Given the description of an element on the screen output the (x, y) to click on. 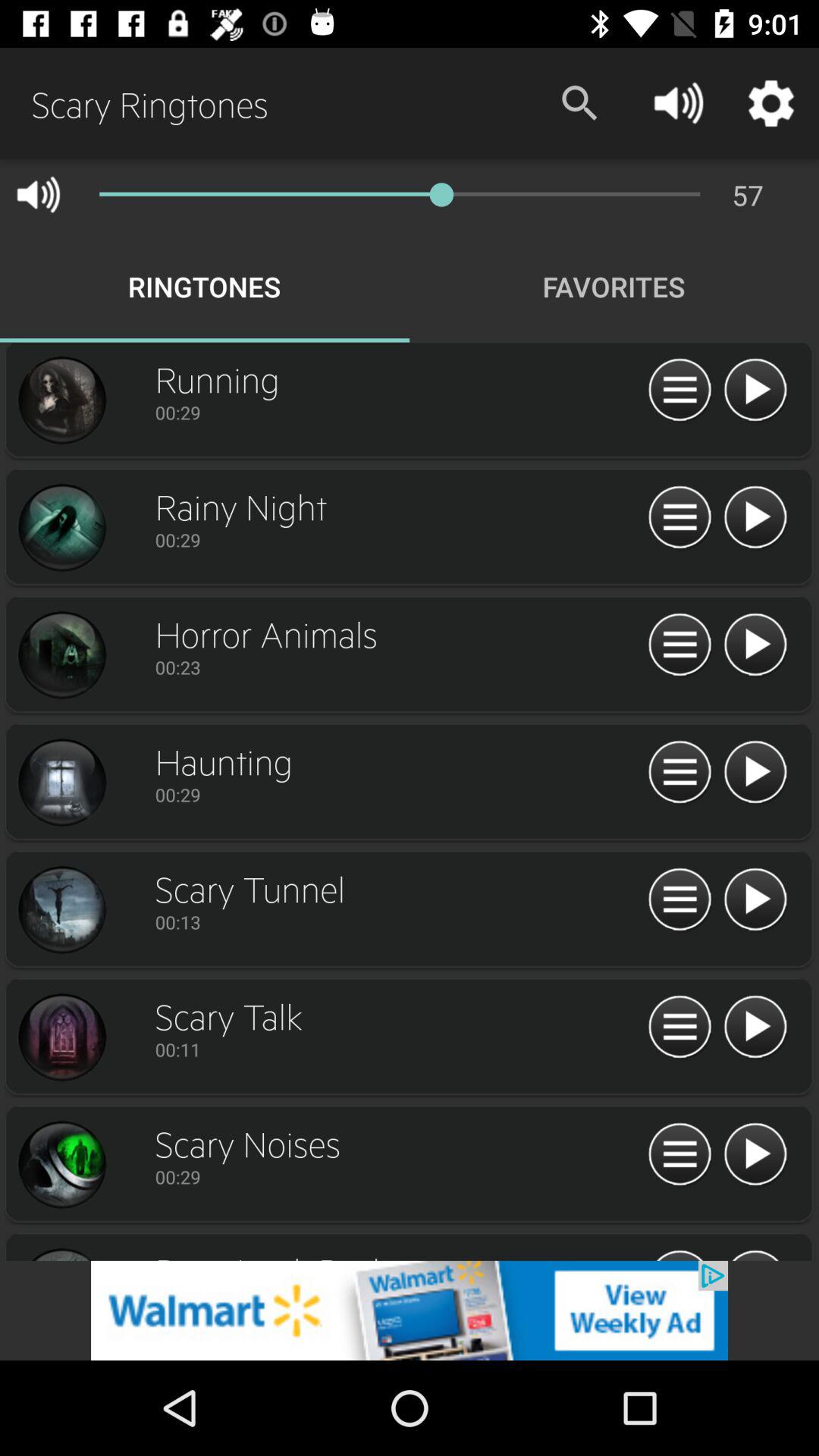
open 'scary talk info (61, 1037)
